Given the description of an element on the screen output the (x, y) to click on. 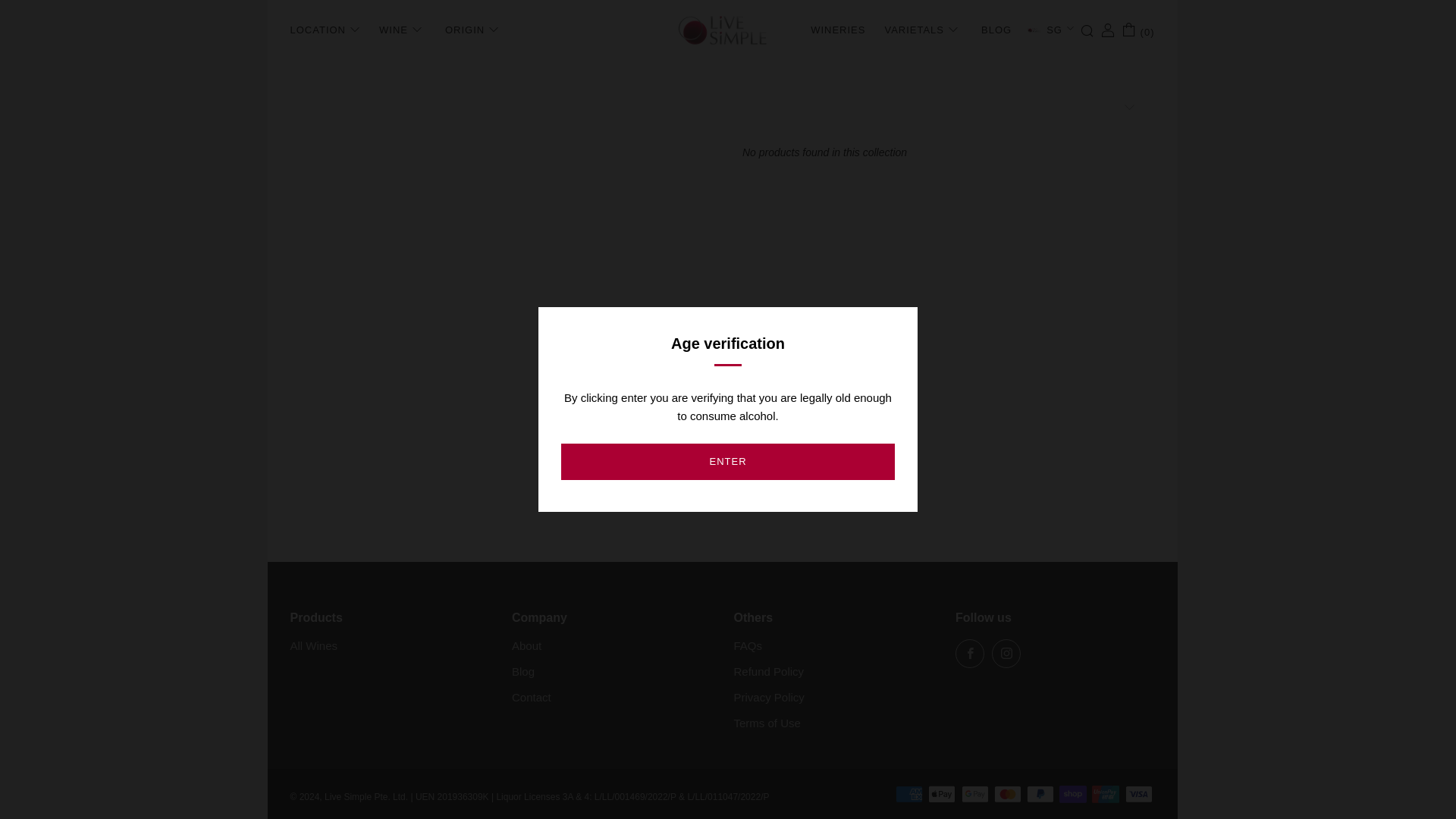
ENTER (727, 19)
